Given the description of an element on the screen output the (x, y) to click on. 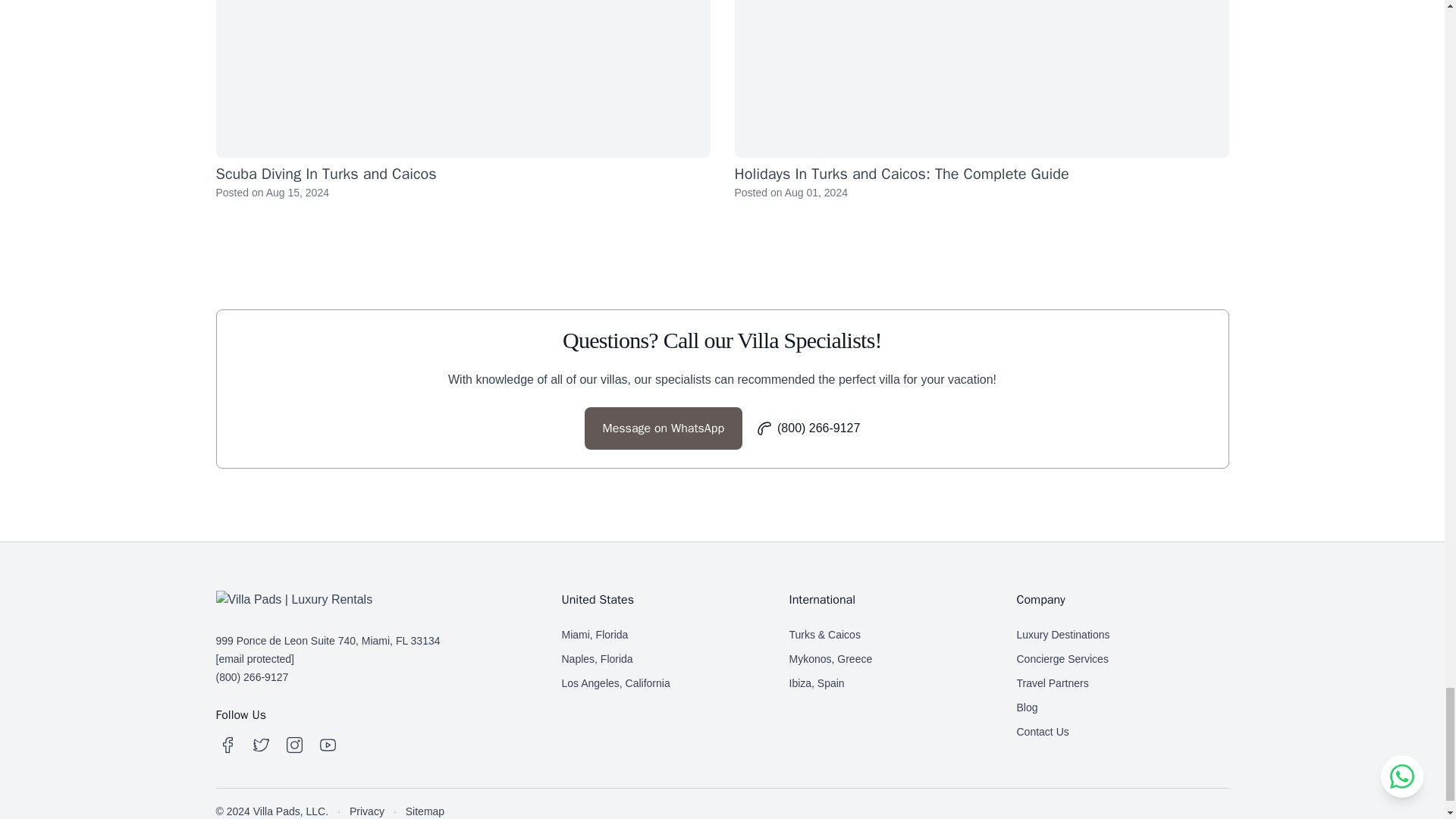
Facebook (227, 745)
Twitter (260, 745)
YouTube (327, 745)
Instagram (293, 745)
